Given the description of an element on the screen output the (x, y) to click on. 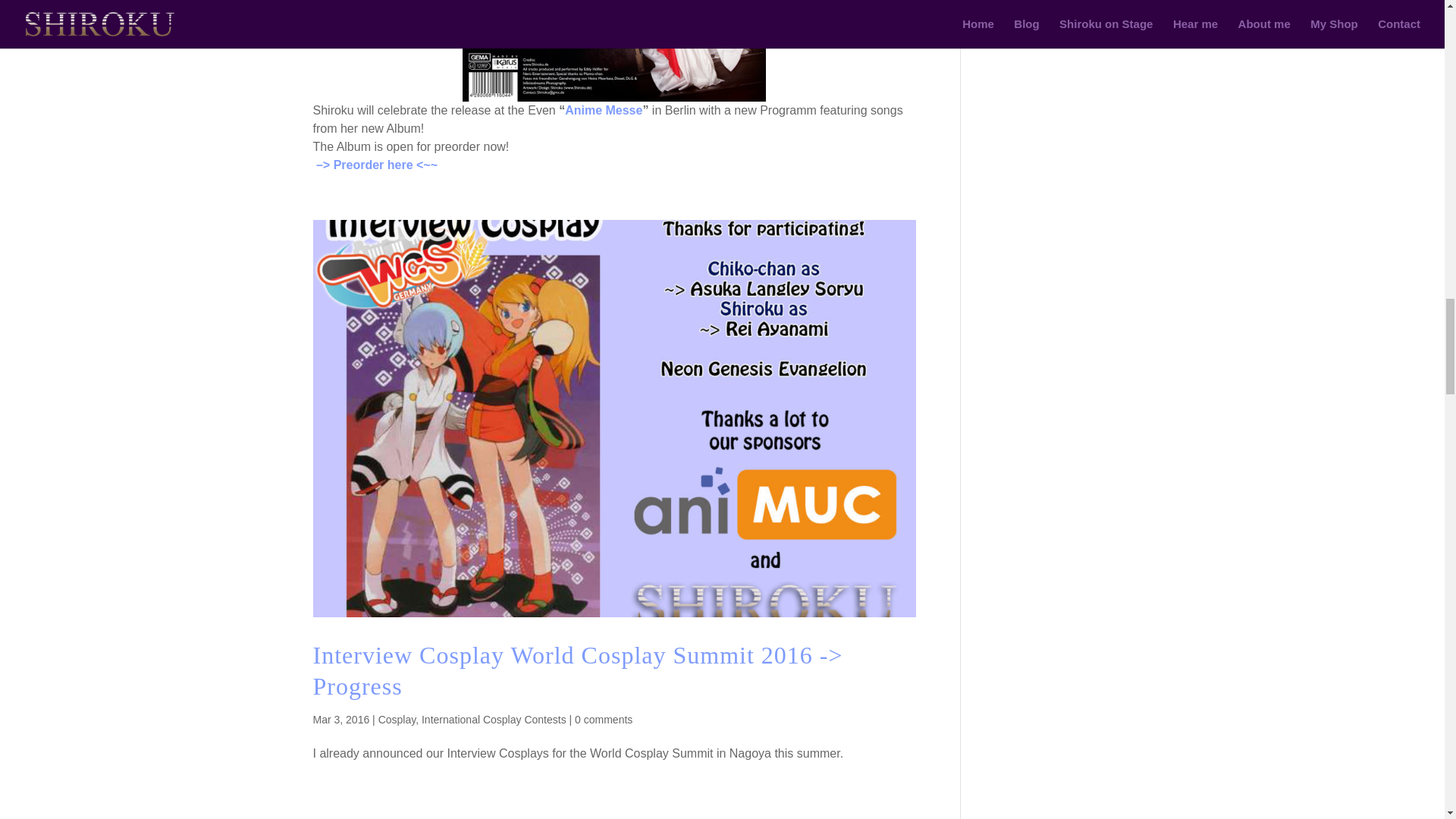
International Cosplay Contests (494, 719)
Anime Messe (603, 110)
0 comments (603, 719)
Cosplay (397, 719)
